Given the description of an element on the screen output the (x, y) to click on. 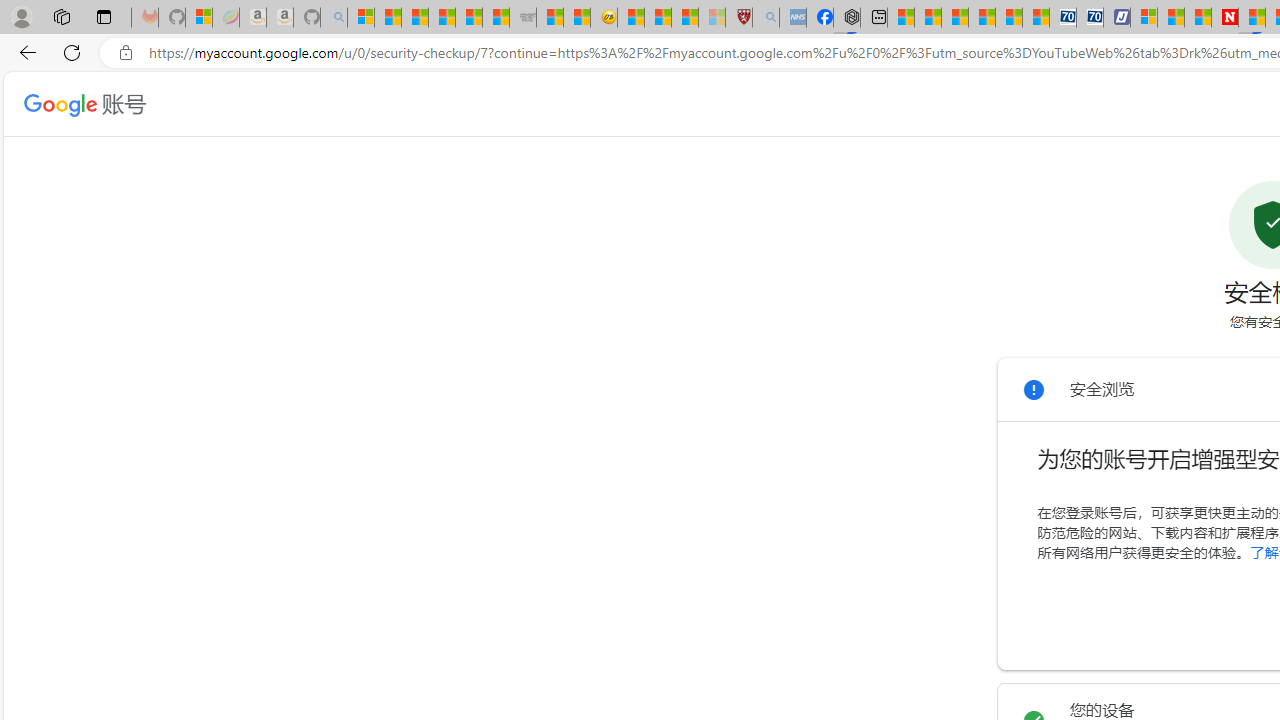
New Report Confirms 2023 Was Record Hot | Watch (468, 17)
Recipes - MSN (630, 17)
The Weather Channel - MSN (414, 17)
